Given the description of an element on the screen output the (x, y) to click on. 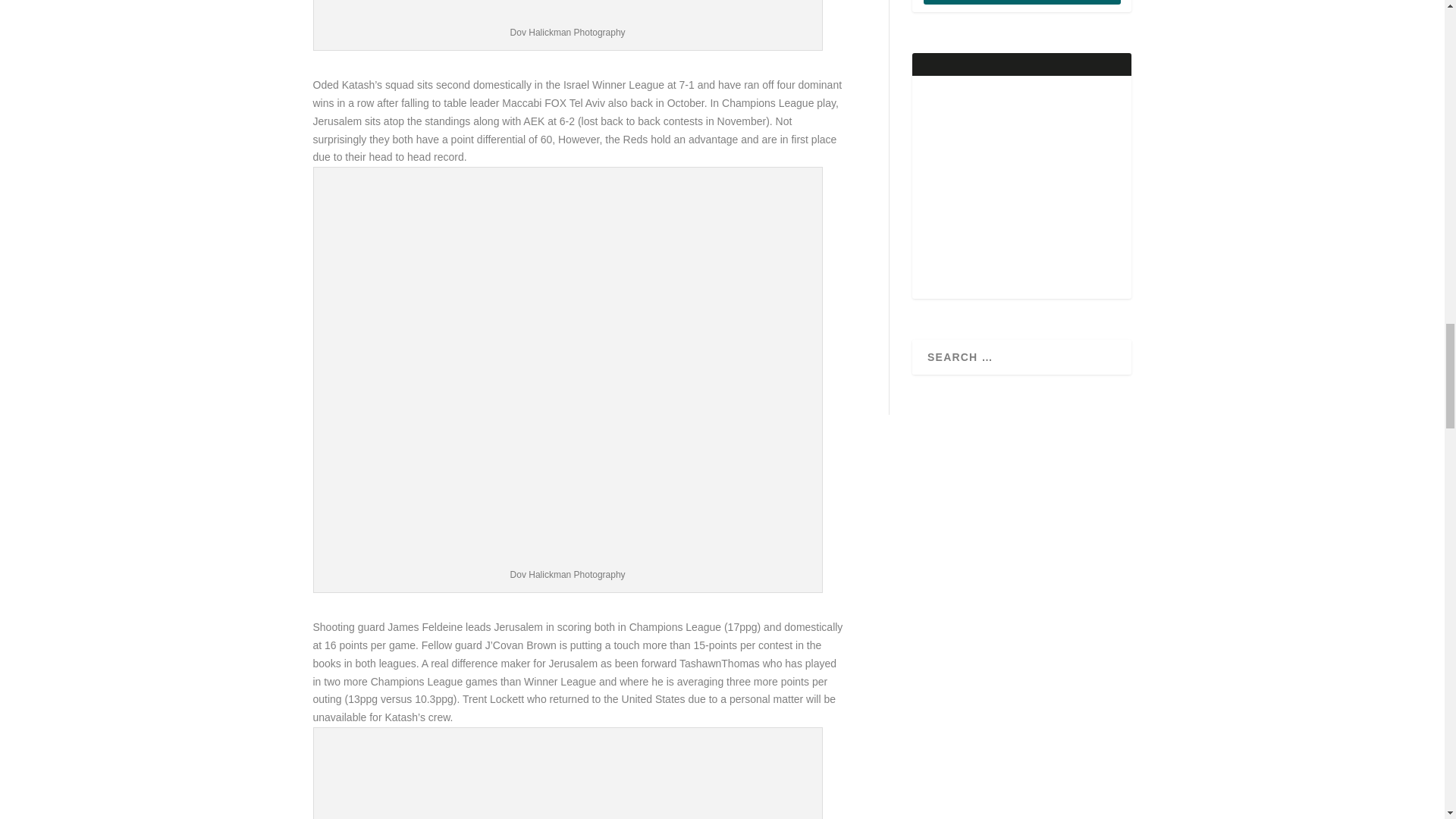
Sign up (1022, 2)
